Given the description of an element on the screen output the (x, y) to click on. 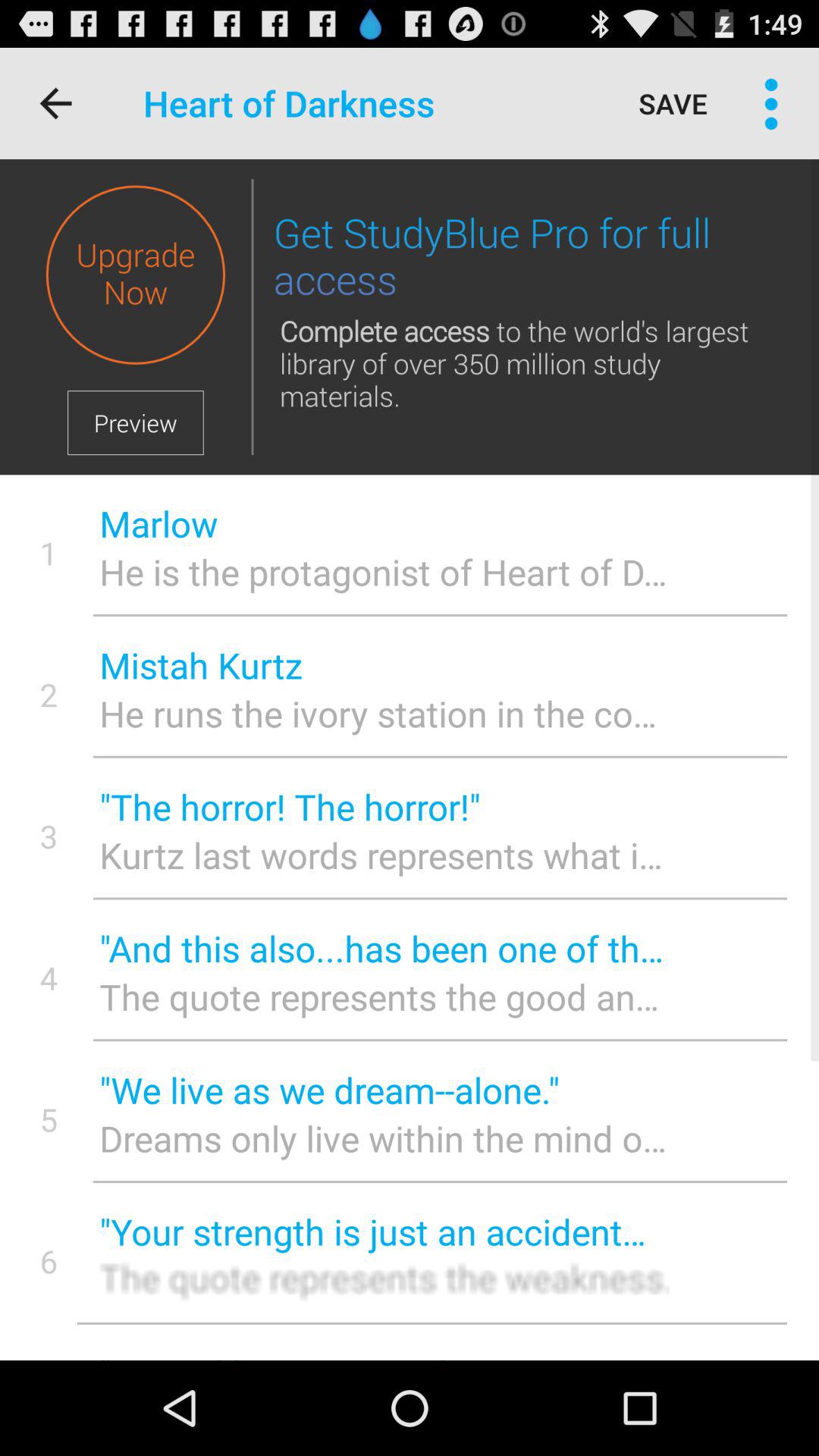
press the icon to the left of the we live as item (48, 1118)
